Given the description of an element on the screen output the (x, y) to click on. 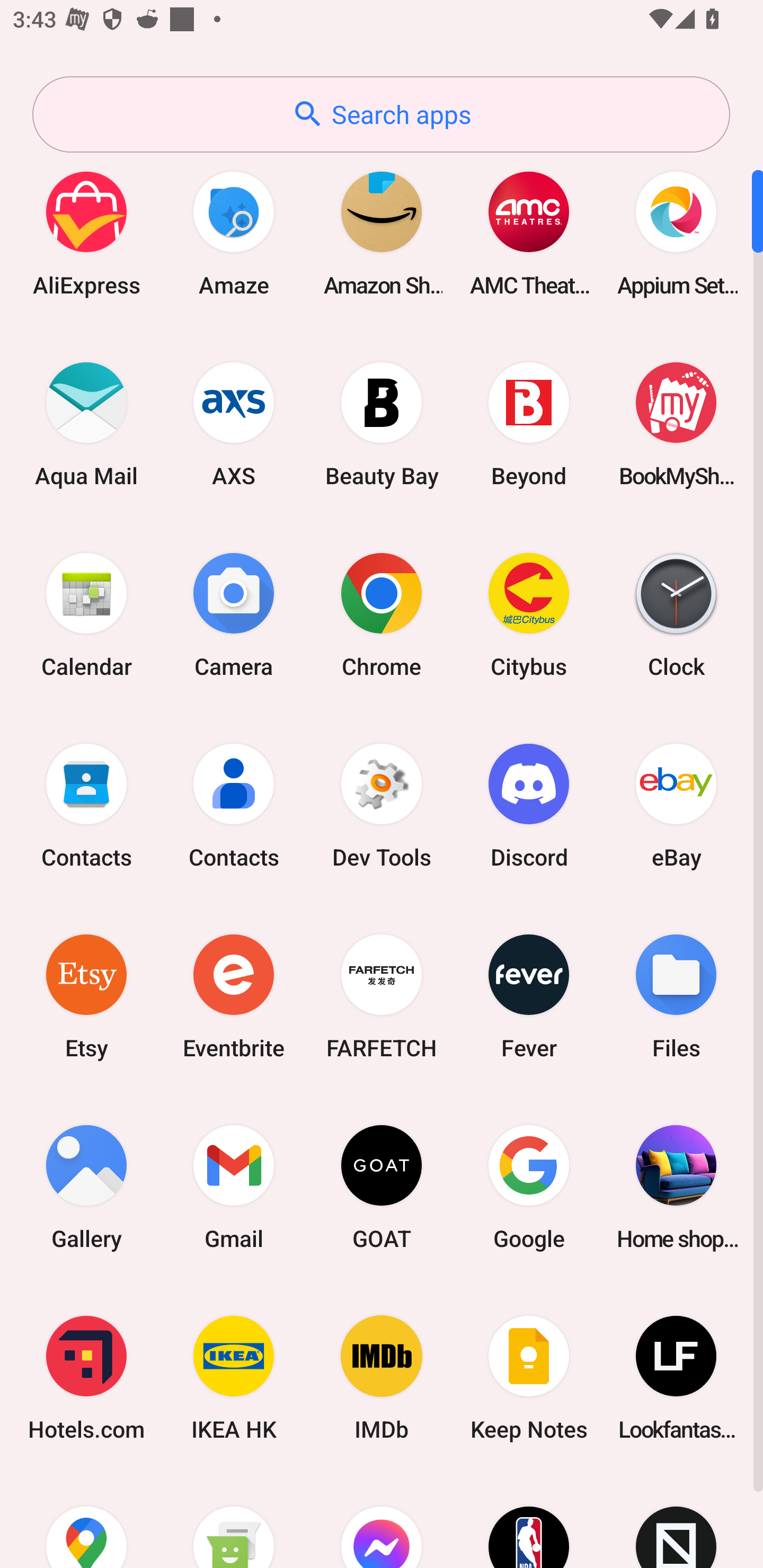
  Search apps (381, 114)
AliExpress (86, 233)
Amaze (233, 233)
Amazon Shopping (381, 233)
AMC Theatres (528, 233)
Appium Settings (676, 233)
Aqua Mail (86, 424)
AXS (233, 424)
Beauty Bay (381, 424)
Beyond (528, 424)
BookMyShow (676, 424)
Calendar (86, 614)
Camera (233, 614)
Chrome (381, 614)
Citybus (528, 614)
Clock (676, 614)
Contacts (86, 805)
Contacts (233, 805)
Dev Tools (381, 805)
Discord (528, 805)
eBay (676, 805)
Etsy (86, 996)
Eventbrite (233, 996)
FARFETCH (381, 996)
Fever (528, 996)
Files (676, 996)
Gallery (86, 1186)
Gmail (233, 1186)
GOAT (381, 1186)
Google (528, 1186)
Home shopping (676, 1186)
Hotels.com (86, 1377)
IKEA HK (233, 1377)
IMDb (381, 1377)
Keep Notes (528, 1377)
Lookfantastic (676, 1377)
Maps (86, 1520)
Messaging (233, 1520)
Messenger (381, 1520)
NBA (528, 1520)
Novelship (676, 1520)
